Given the description of an element on the screen output the (x, y) to click on. 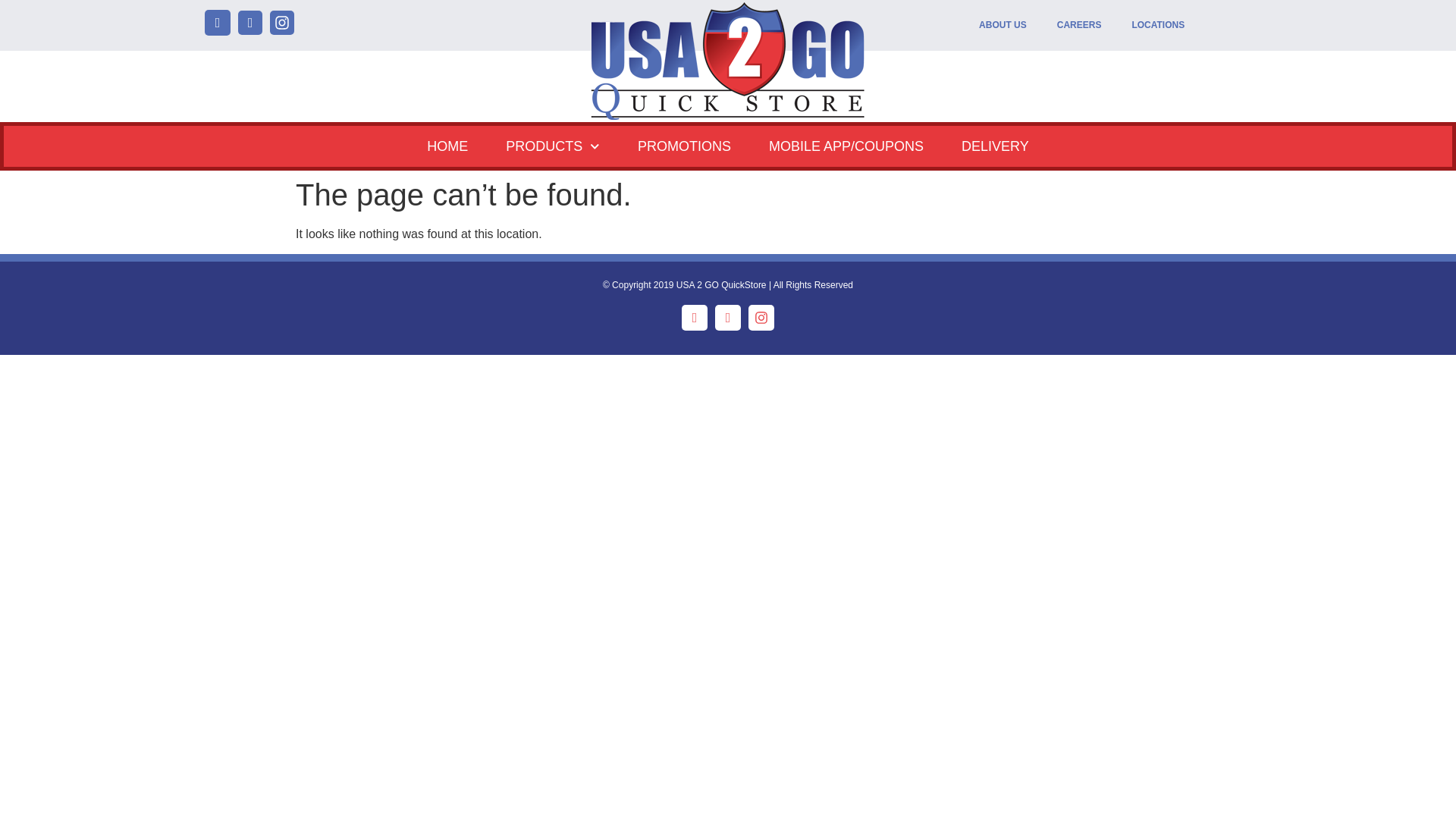
ABOUT US (1002, 25)
LOCATIONS (1157, 25)
HOME (446, 145)
PRODUCTS (552, 145)
CAREERS (1079, 25)
